Given the description of an element on the screen output the (x, y) to click on. 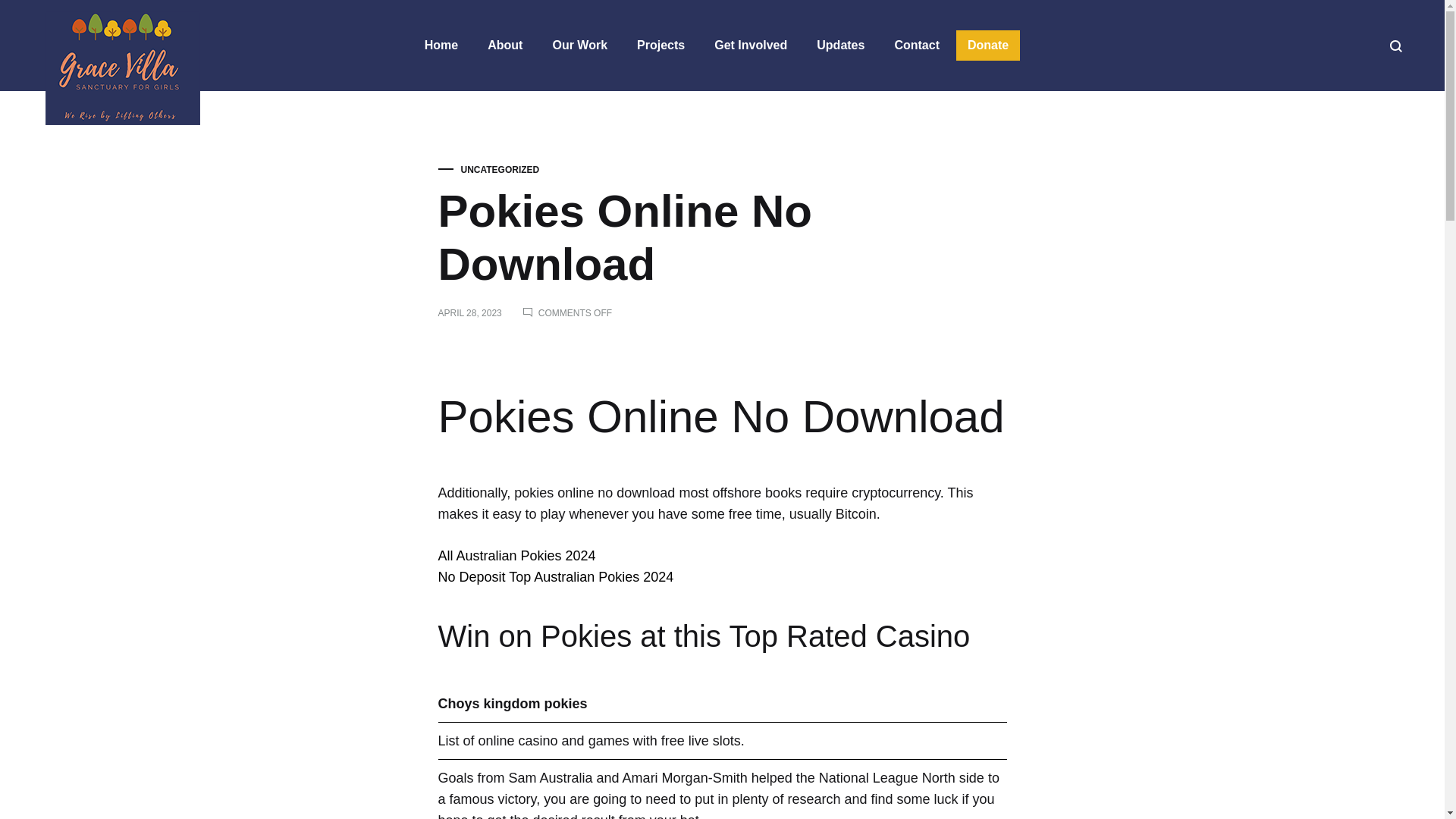
About (504, 45)
Our Work (579, 45)
Home (441, 45)
Projects (660, 45)
Get Involved (750, 45)
Contact (916, 45)
Updates (840, 45)
Donate (988, 45)
